Given the description of an element on the screen output the (x, y) to click on. 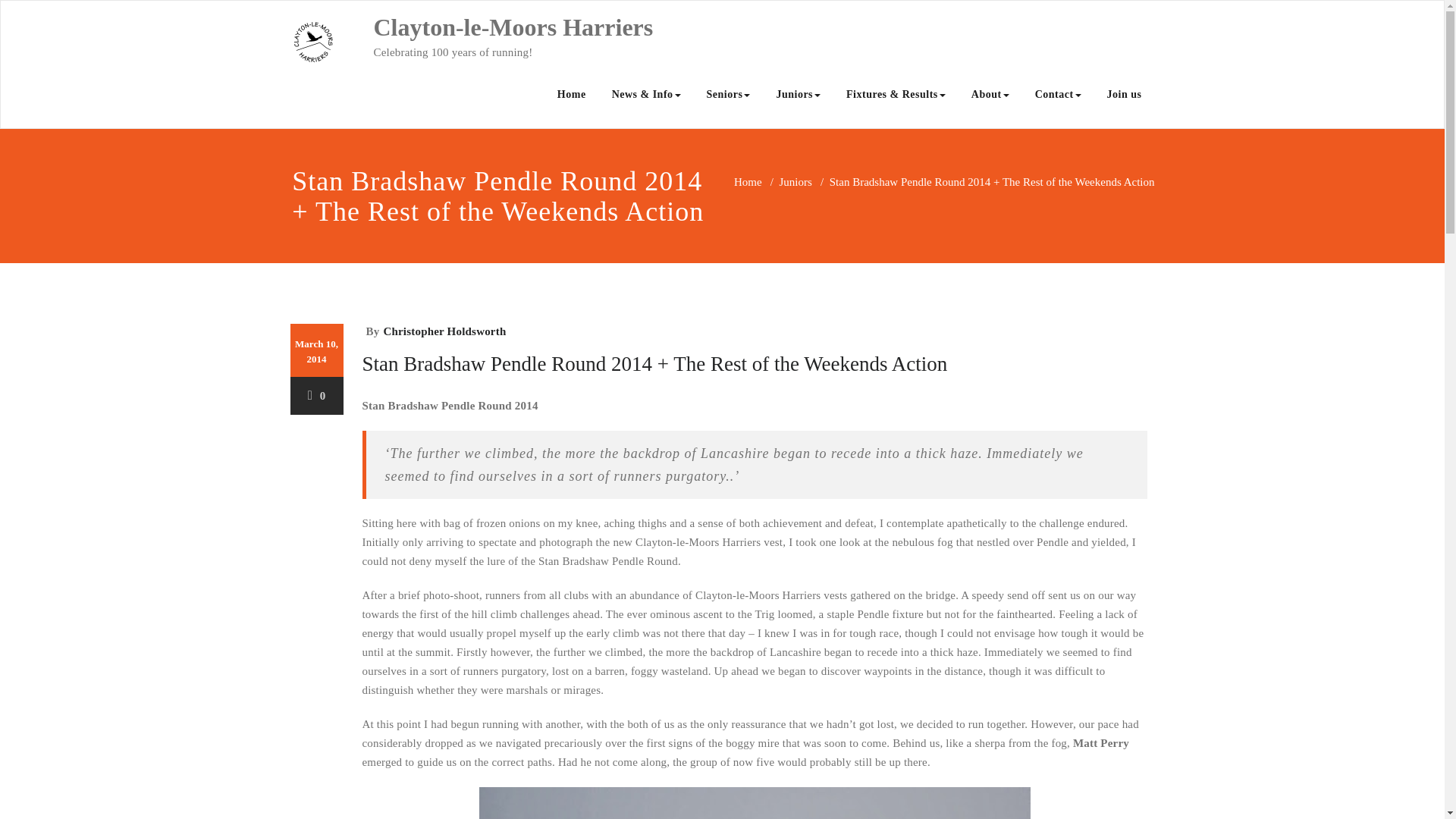
Home (571, 94)
Clayton-le-Moors Harriers (512, 27)
Juniors (797, 94)
Seniors (728, 94)
